Given the description of an element on the screen output the (x, y) to click on. 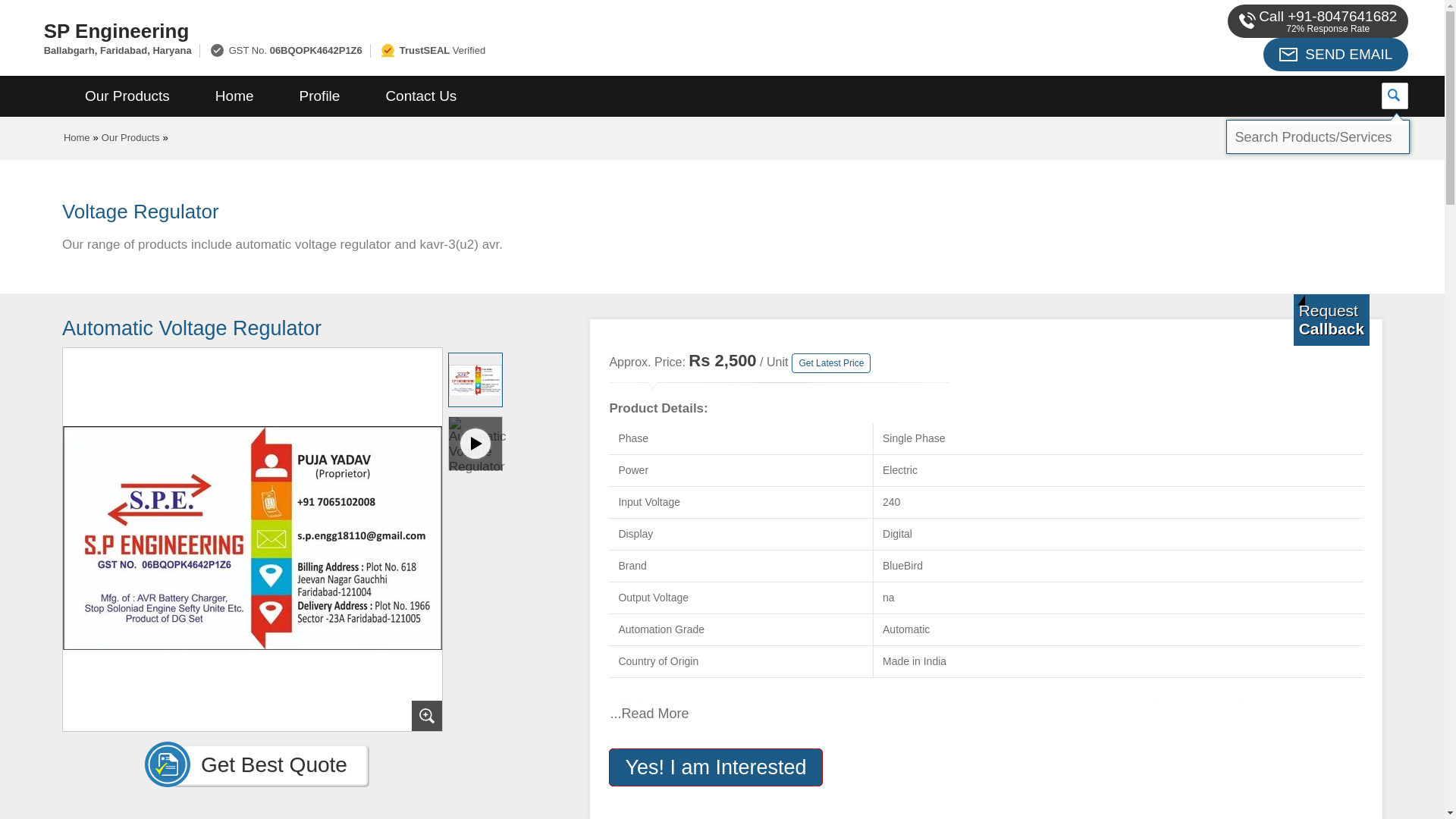
SP Engineering (480, 31)
Our Products (127, 96)
Get a Call from us (1332, 319)
